Given the description of an element on the screen output the (x, y) to click on. 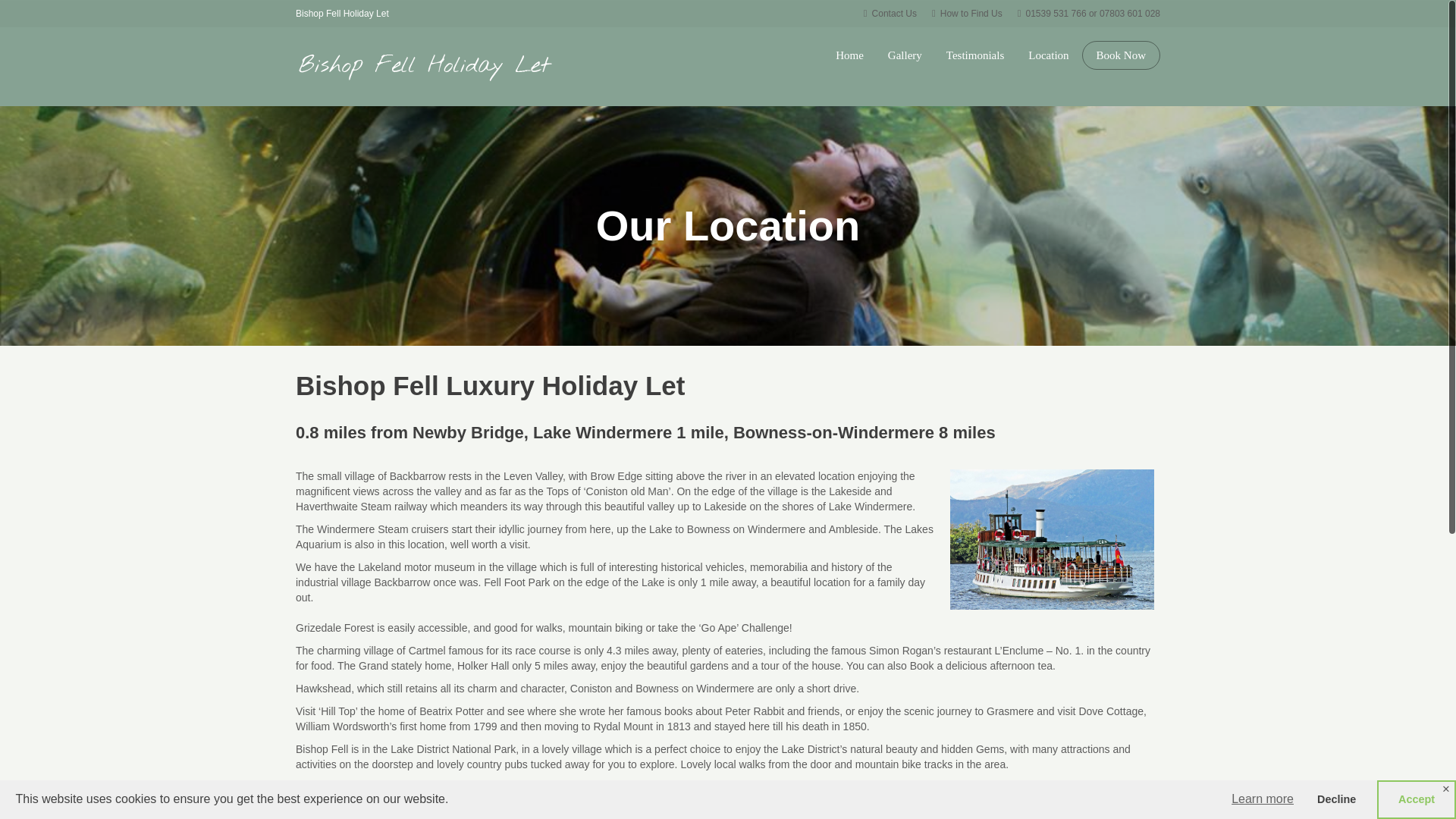
Book Now (1120, 55)
01539 531 766 or 07803 601 028 (1088, 13)
Gallery (904, 55)
Location (1047, 55)
Testimonials (975, 55)
Decline (1336, 799)
How to Find Us (967, 13)
Contact Us (890, 13)
Learn more (1261, 798)
